Given the description of an element on the screen output the (x, y) to click on. 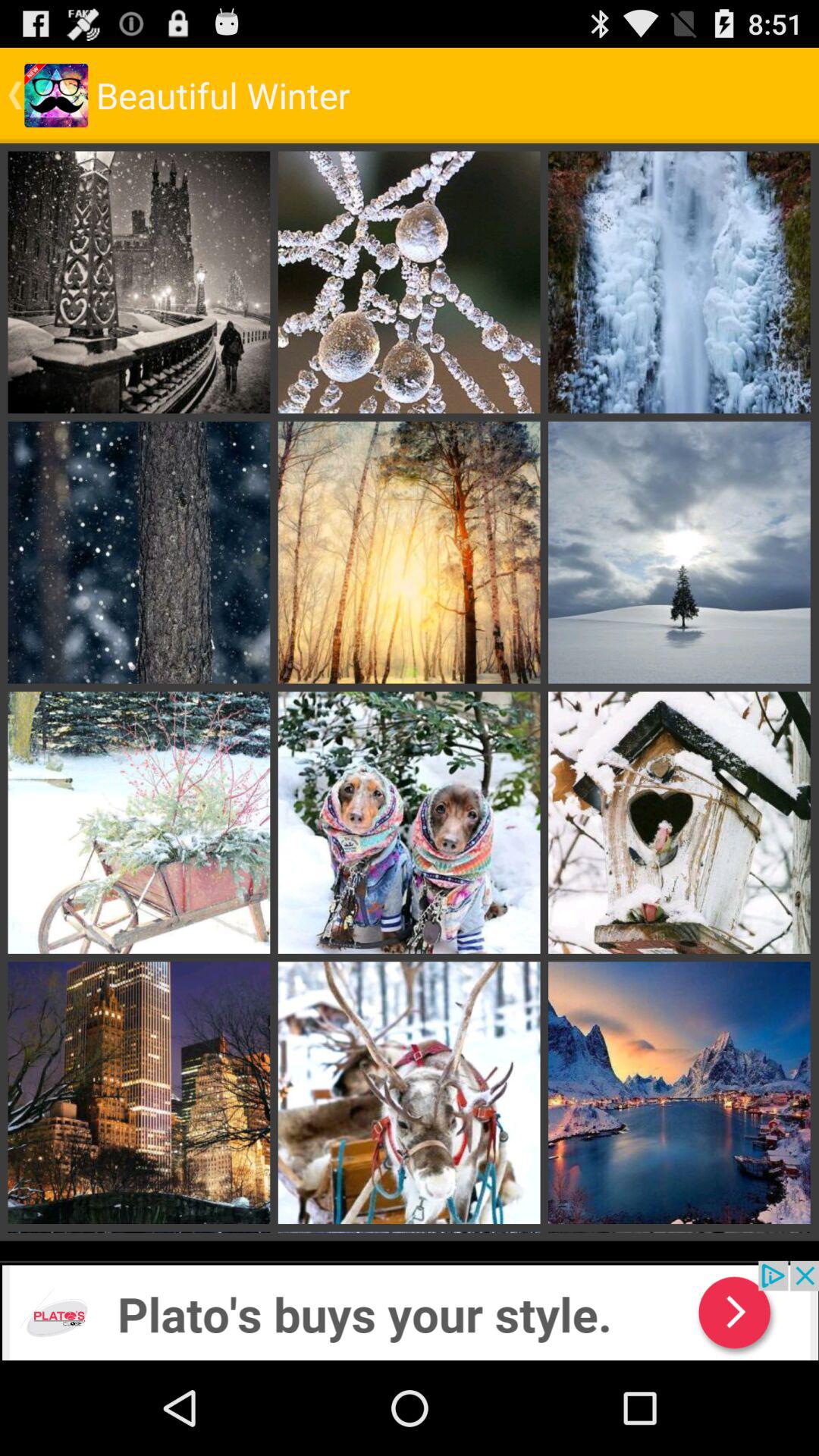
bit news (409, 1310)
